Given the description of an element on the screen output the (x, y) to click on. 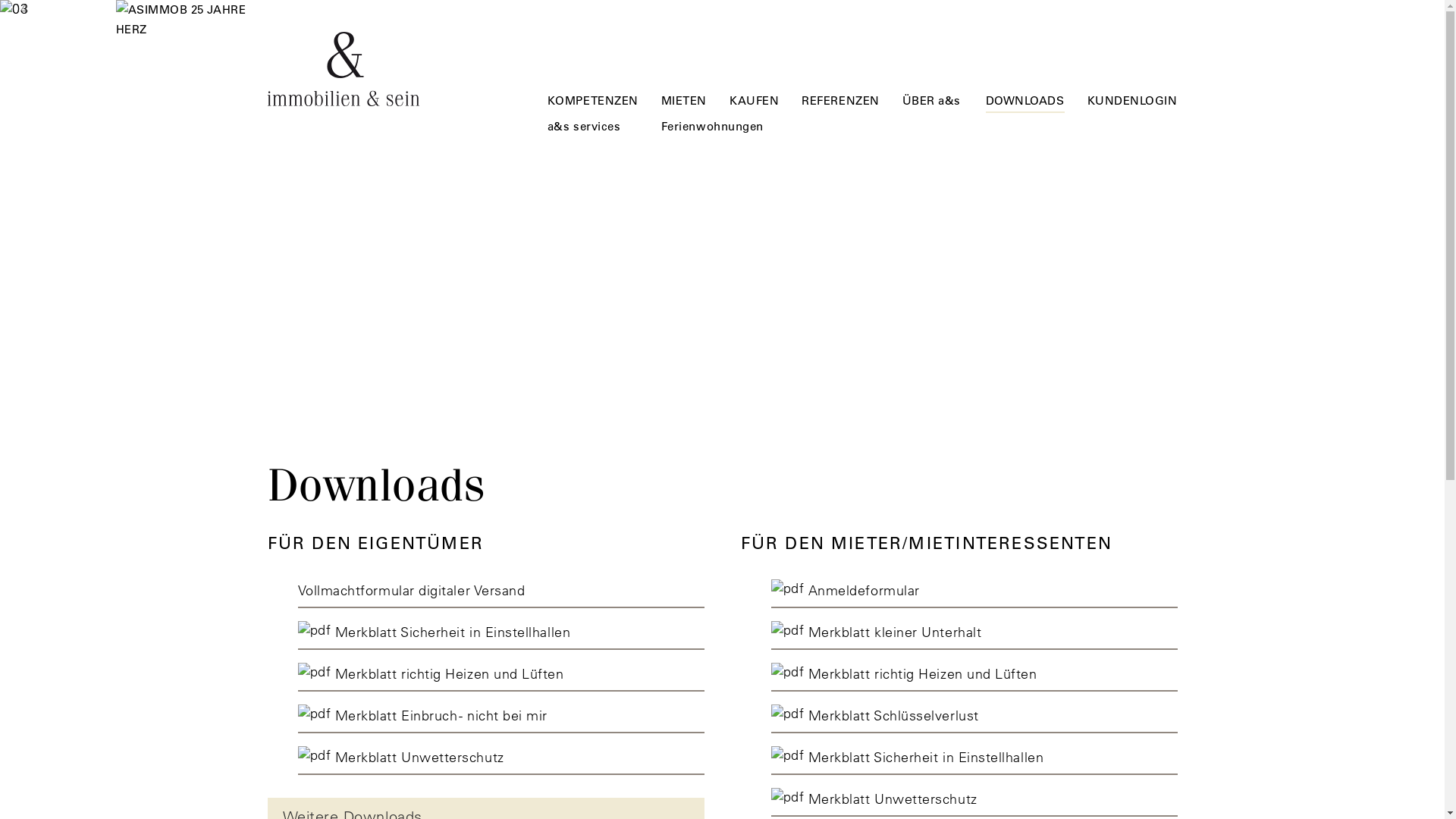
a&s services Element type: text (583, 128)
KAUFEN Element type: text (753, 102)
Merkblatt kleiner Unterhalt Element type: text (973, 631)
KOMPETENZEN Element type: text (592, 102)
Merkblatt Sicherheit in Einstellhallen Element type: text (500, 631)
REFERENZEN Element type: text (839, 102)
 Anmeldeformular Element type: text (973, 590)
Merkblatt Sicherheit in Einstellhallen Element type: text (973, 756)
Merkblatt Unwetterschutz Element type: text (500, 756)
DOWNLOADS Element type: text (1024, 102)
Vollmachtformular digitaler Versand Element type: text (500, 590)
Ferienwohnungen Element type: text (712, 128)
MIETEN Element type: text (683, 102)
KUNDENLOGIN Element type: text (1132, 102)
Merkblatt Unwetterschutz Element type: text (973, 798)
Merkblatt Einbruch - nicht bei mir Element type: text (500, 715)
